Given the description of an element on the screen output the (x, y) to click on. 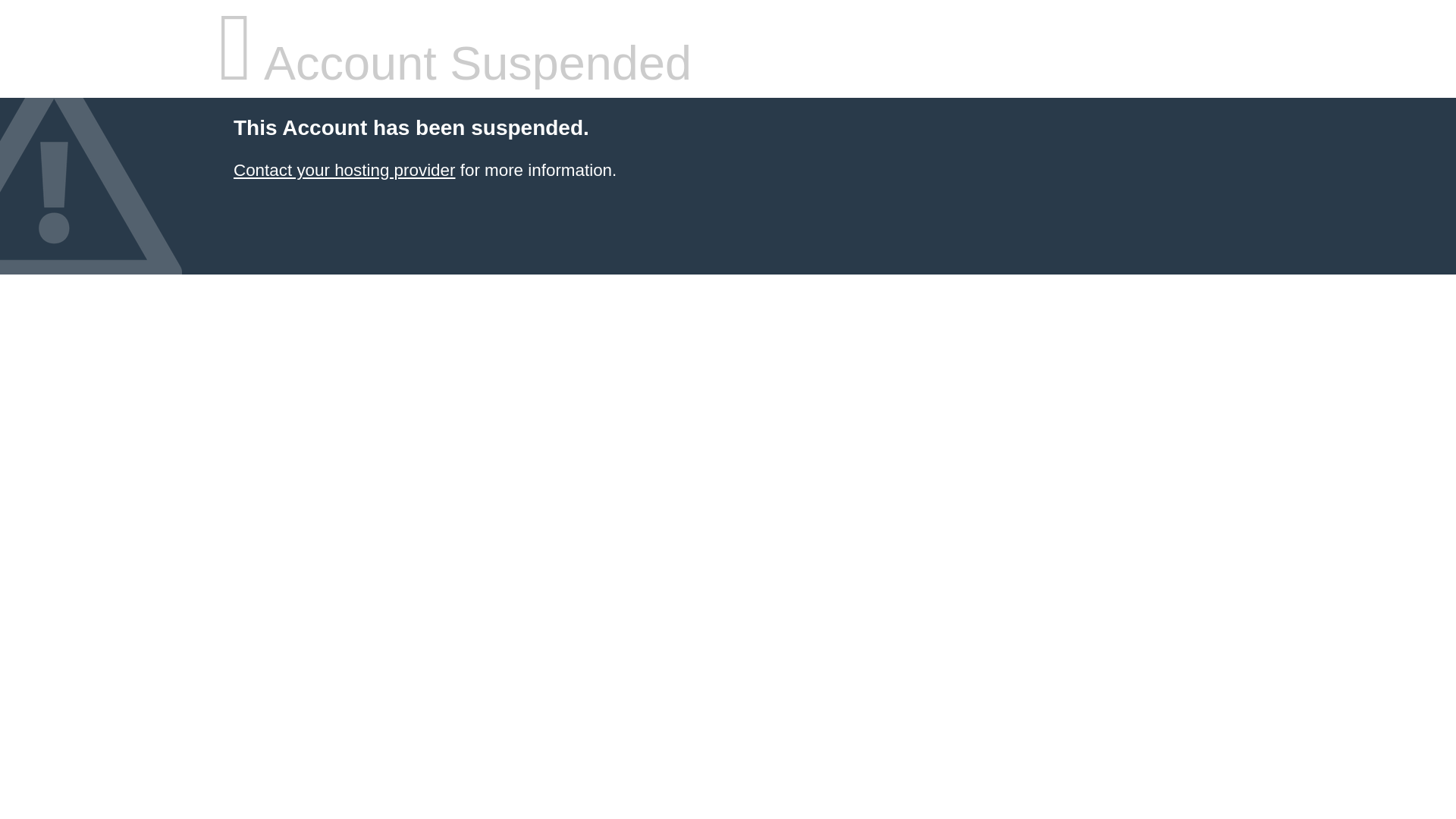
Contact your hosting provider (343, 169)
